Given the description of an element on the screen output the (x, y) to click on. 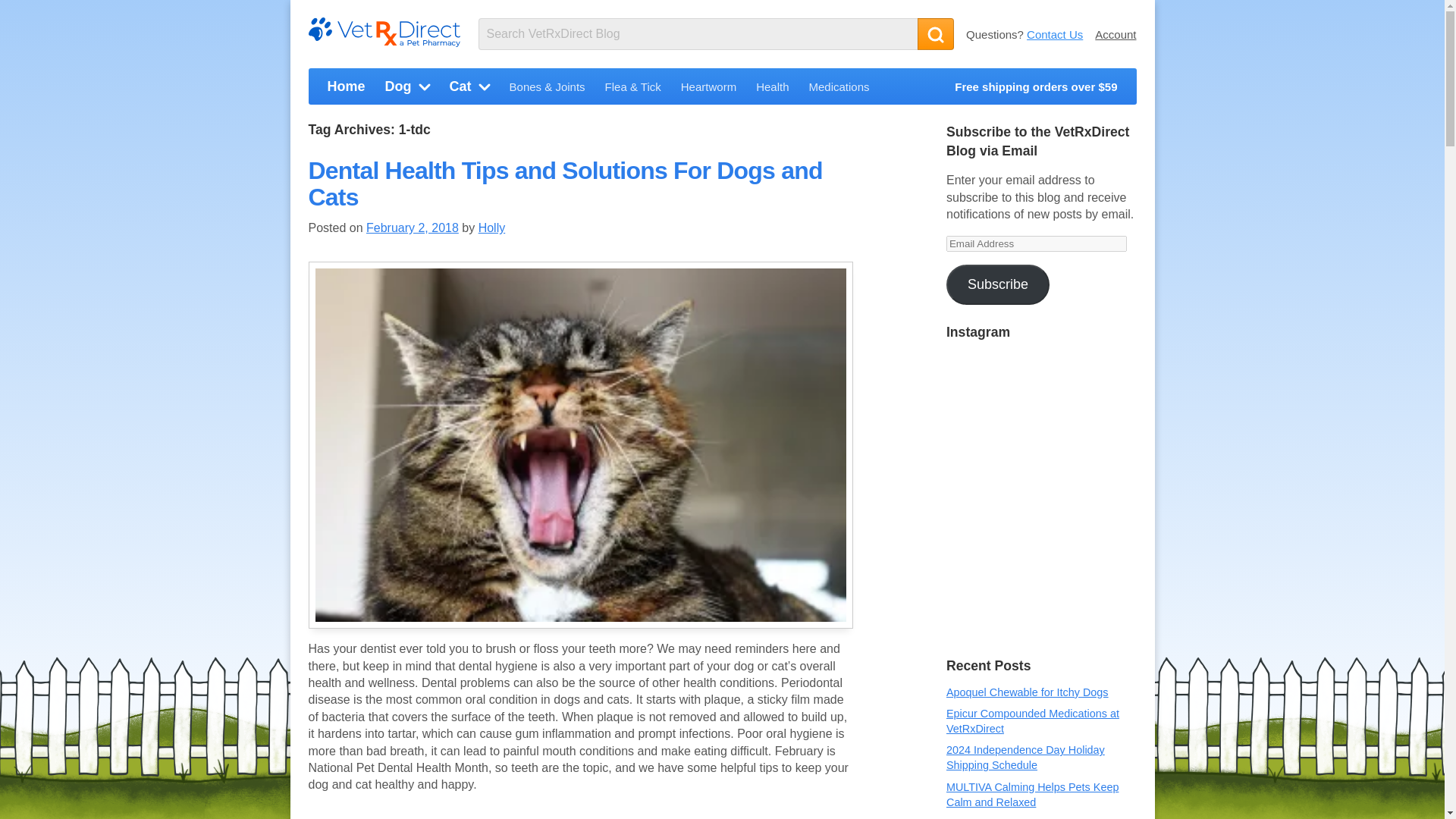
Contact Us (1054, 33)
Home (345, 89)
Cat (469, 89)
Medications (839, 90)
Account (1114, 33)
7:30 am (412, 227)
Health (771, 90)
Dog (407, 89)
View all posts by Holly (492, 227)
